Given the description of an element on the screen output the (x, y) to click on. 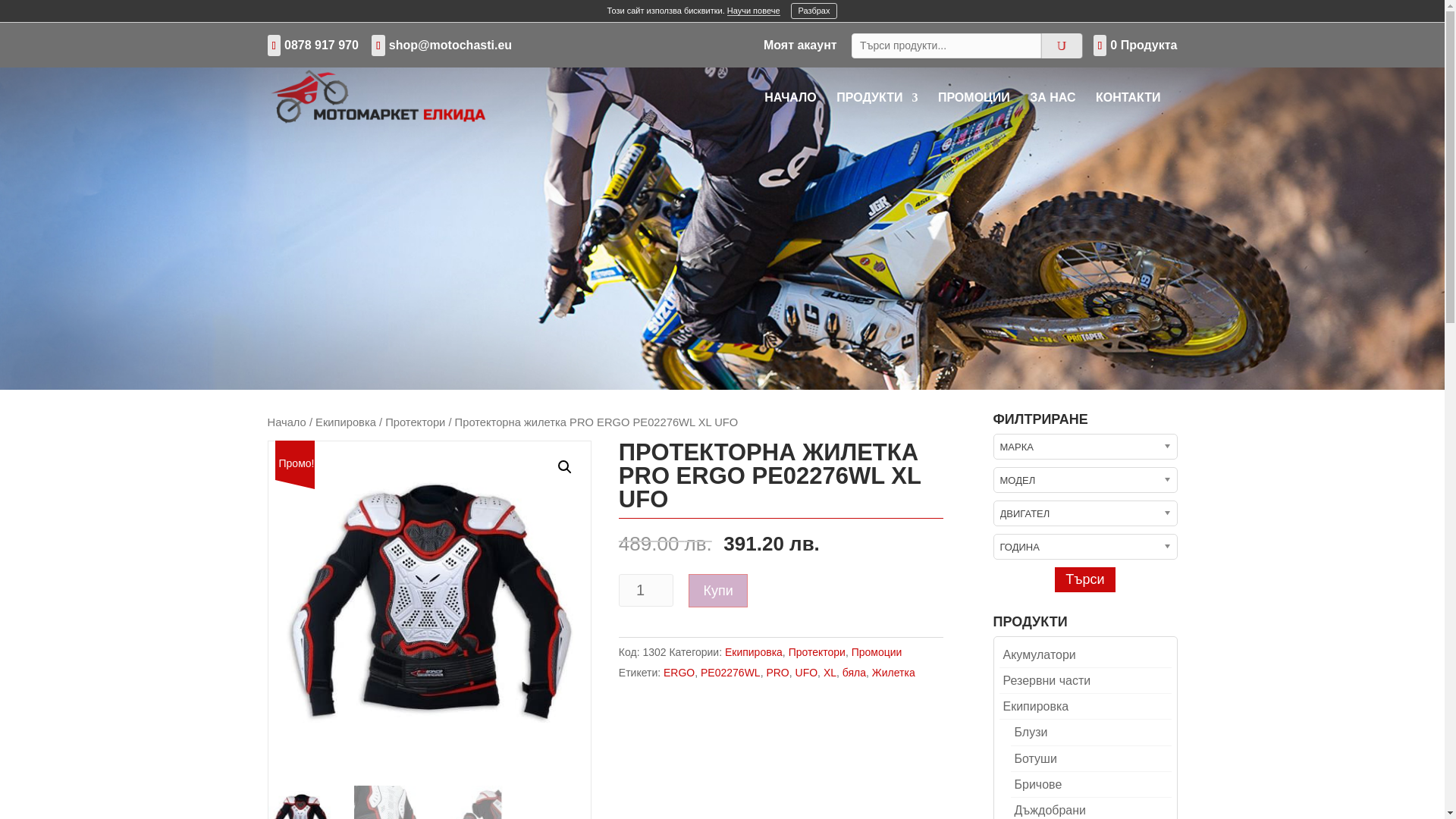
0878 917 970 (320, 44)
1 (646, 590)
U (1061, 45)
3ac28fd1eb7431b1630e0e6a3b02205c (429, 602)
U (1061, 45)
